Given the description of an element on the screen output the (x, y) to click on. 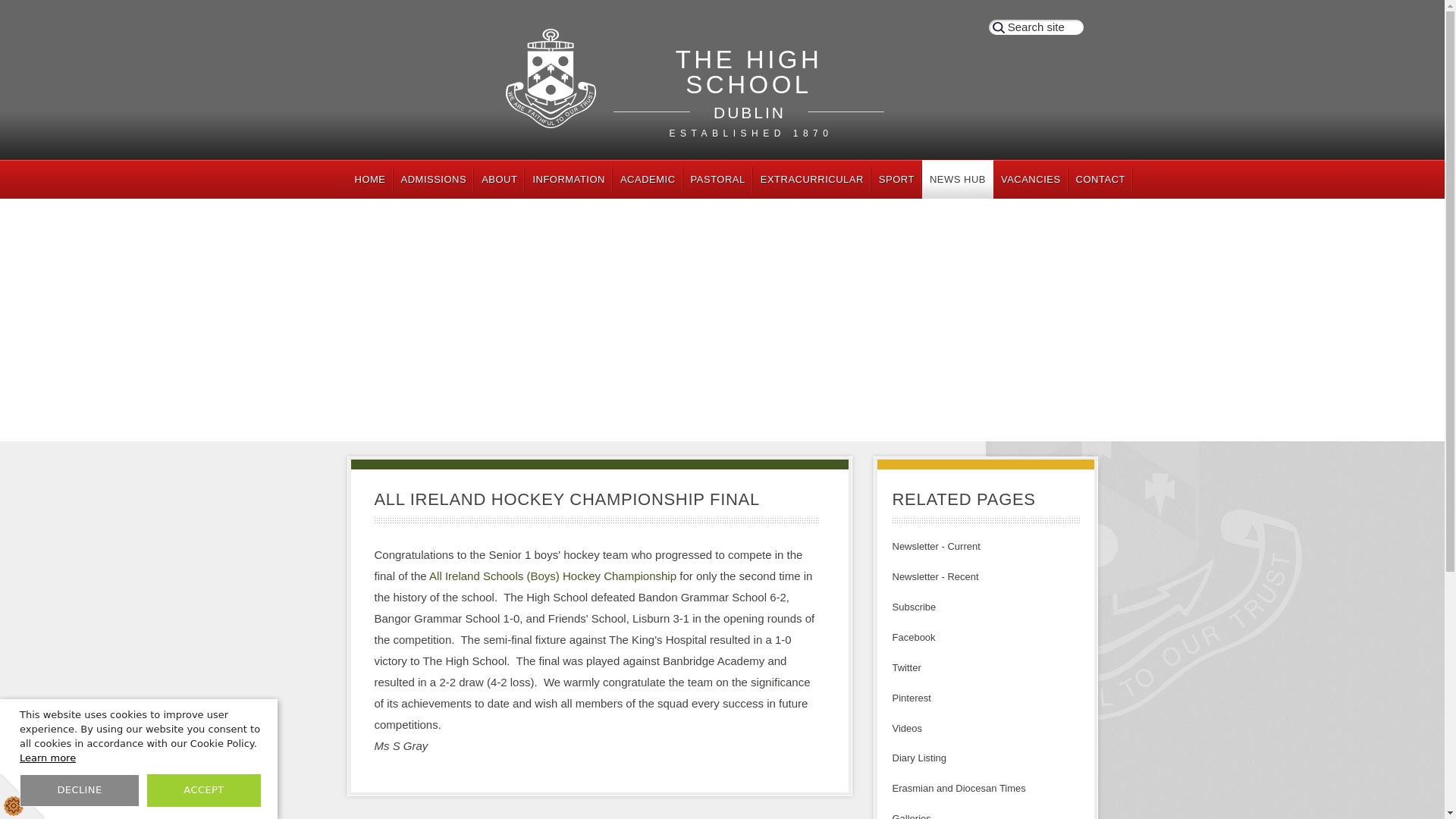
HOME (370, 179)
ACADEMIC (647, 179)
Search site (1035, 27)
ABOUT (499, 179)
ADMISSIONS (748, 92)
INFORMATION (433, 179)
Search site (568, 179)
